Given the description of an element on the screen output the (x, y) to click on. 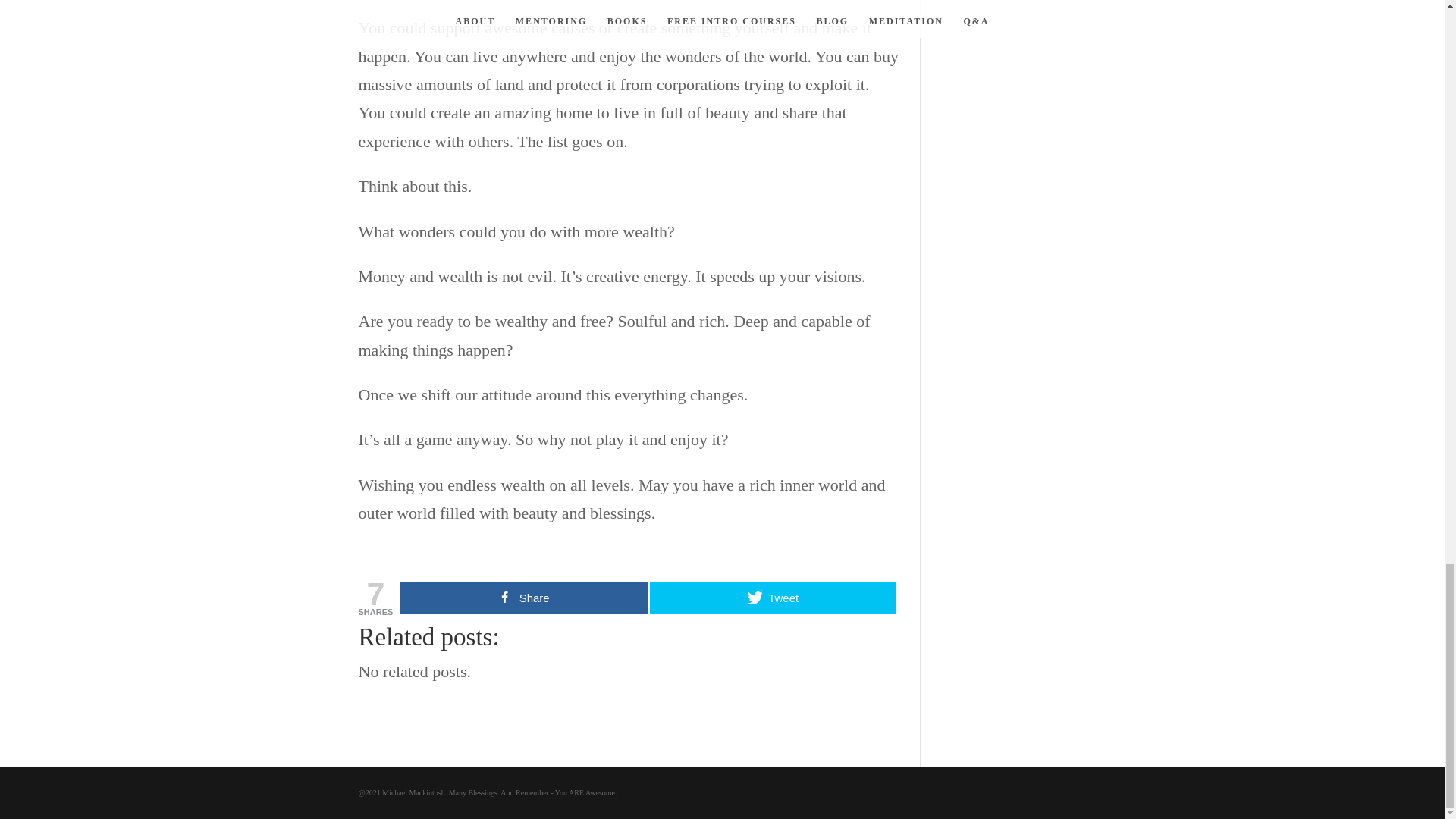
Tweet (772, 597)
Share (523, 597)
